Given the description of an element on the screen output the (x, y) to click on. 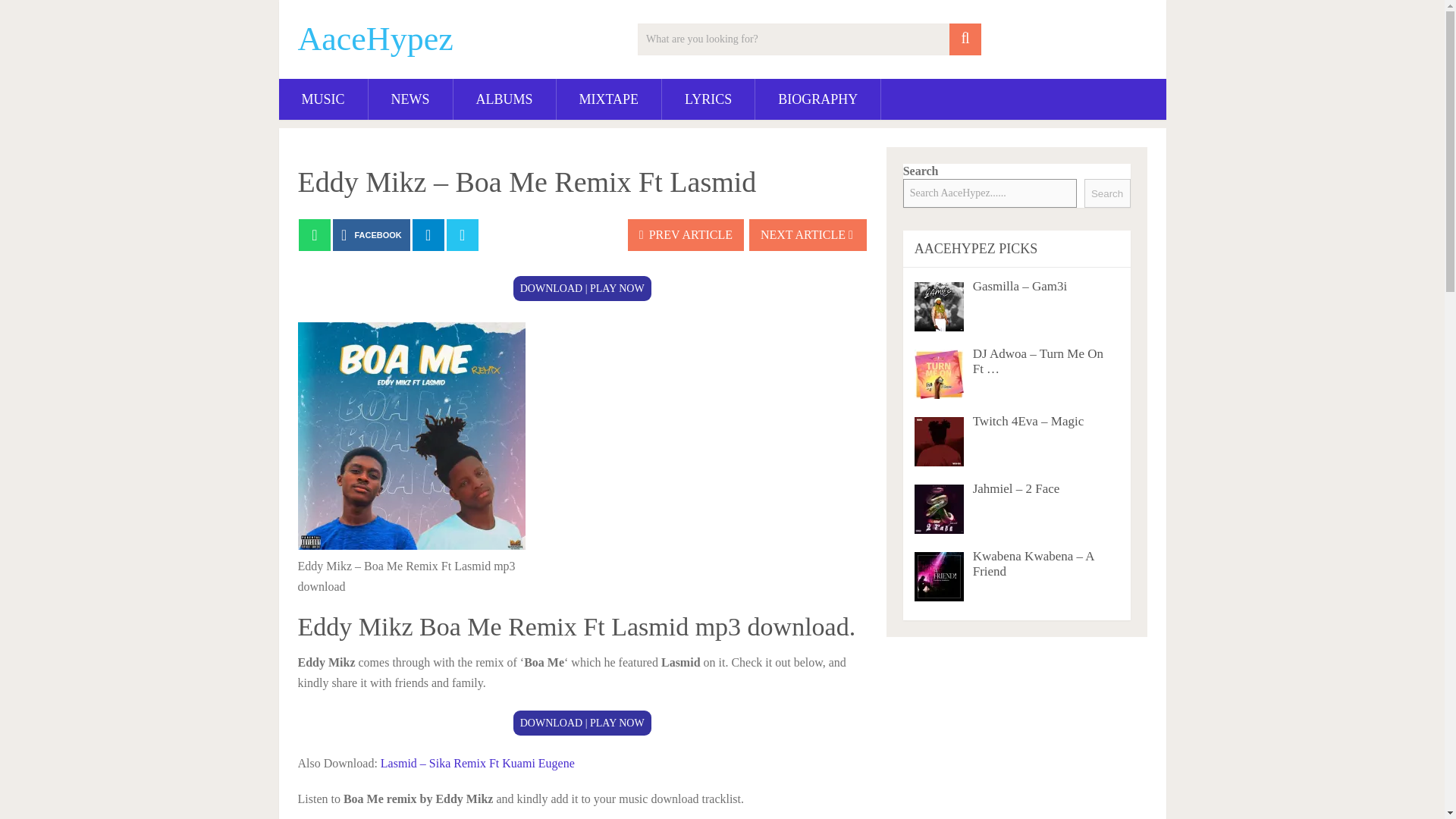
FACEBOOK (371, 234)
LYRICS (708, 98)
BIOGRAPHY (817, 98)
NEWS (410, 98)
PREV ARTICLE (685, 234)
MIXTAPE (609, 98)
NEXT ARTICLE (807, 234)
MUSIC (323, 98)
ALBUMS (504, 98)
AaceHypez (374, 39)
